Given the description of an element on the screen output the (x, y) to click on. 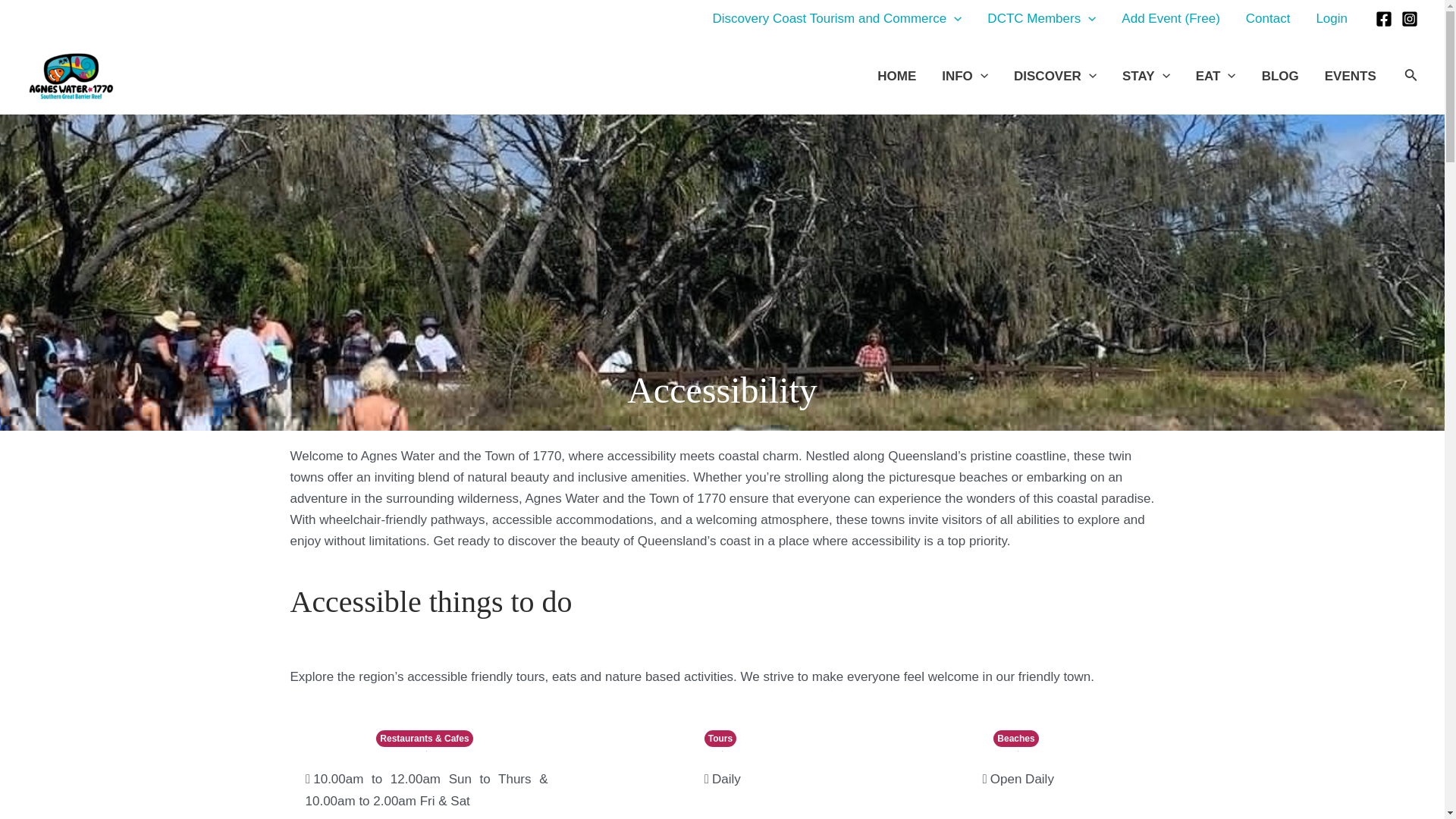
HOME (896, 75)
INFO (964, 75)
DISCOVER (1055, 75)
DCTC Members (1041, 18)
Contact (1268, 18)
Login (1331, 18)
Discovery Coast Tourism and Commerce (837, 18)
